Given the description of an element on the screen output the (x, y) to click on. 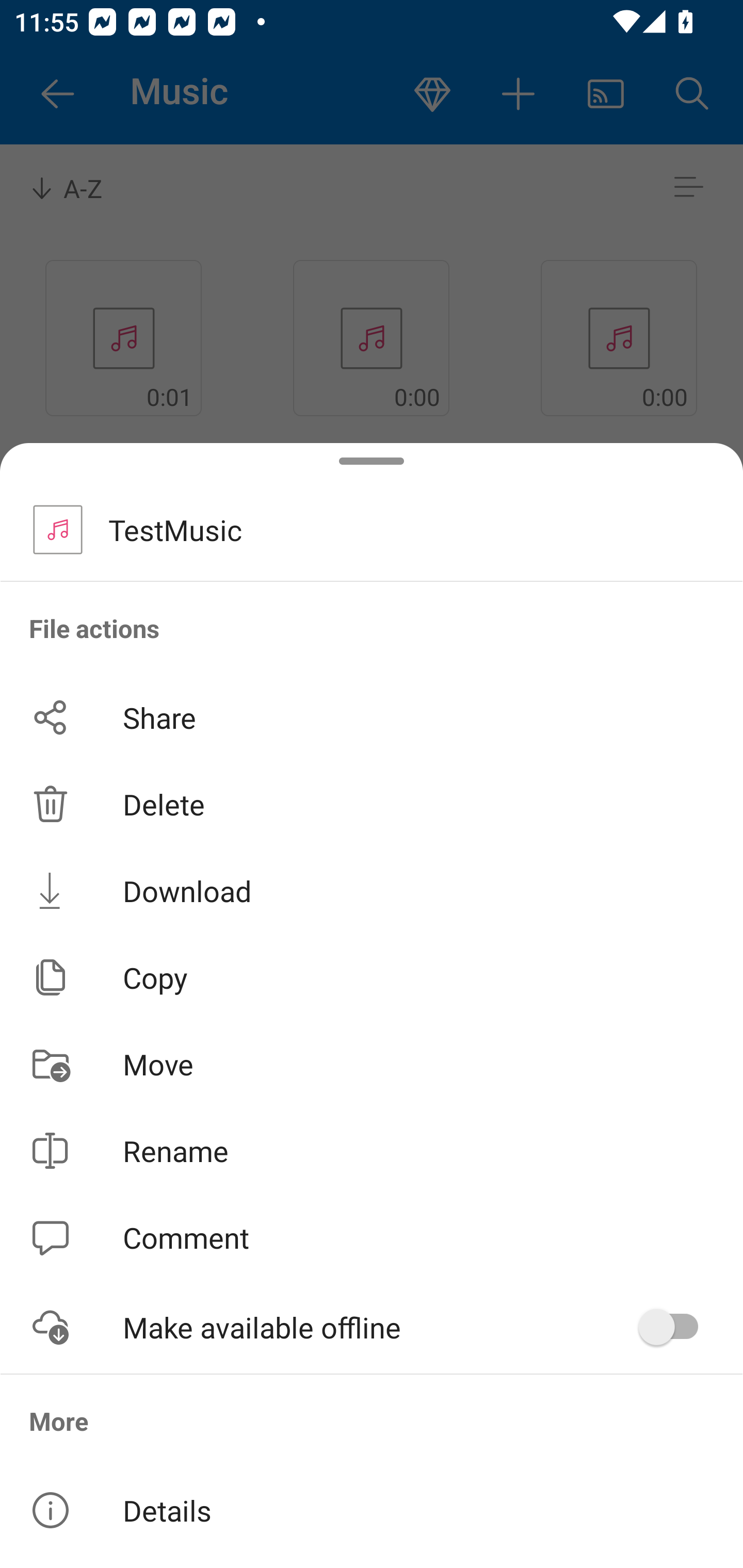
Share button Share (371, 717)
Delete button Delete (371, 803)
Download button Download (371, 890)
Copy button Copy (371, 977)
Move button Move (371, 1063)
Rename button Rename (371, 1150)
Comment button Comment (371, 1237)
Make offline operation (674, 1327)
Details button Details (371, 1510)
